Given the description of an element on the screen output the (x, y) to click on. 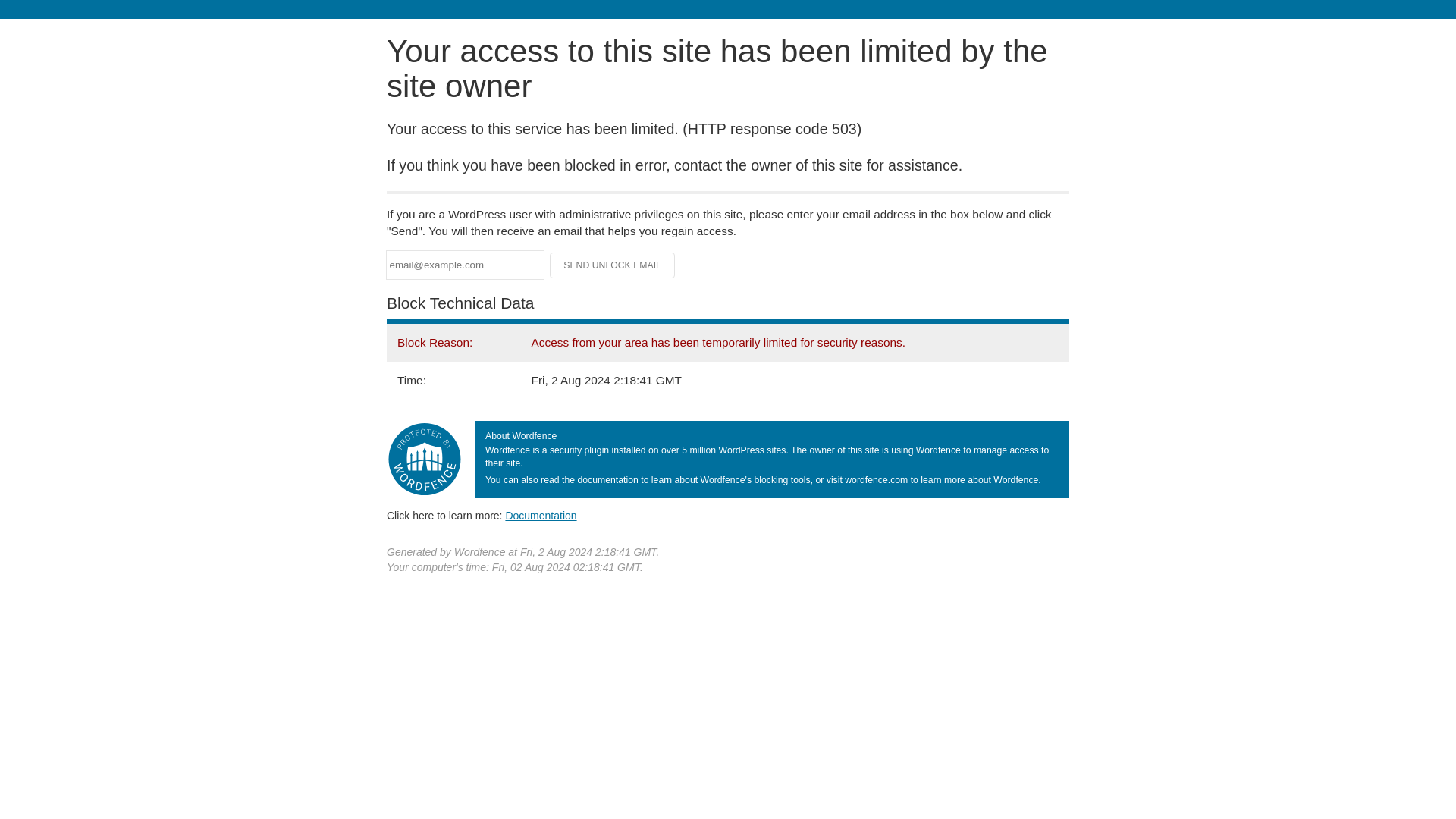
Send Unlock Email (612, 265)
Send Unlock Email (612, 265)
Documentation (540, 515)
